Given the description of an element on the screen output the (x, y) to click on. 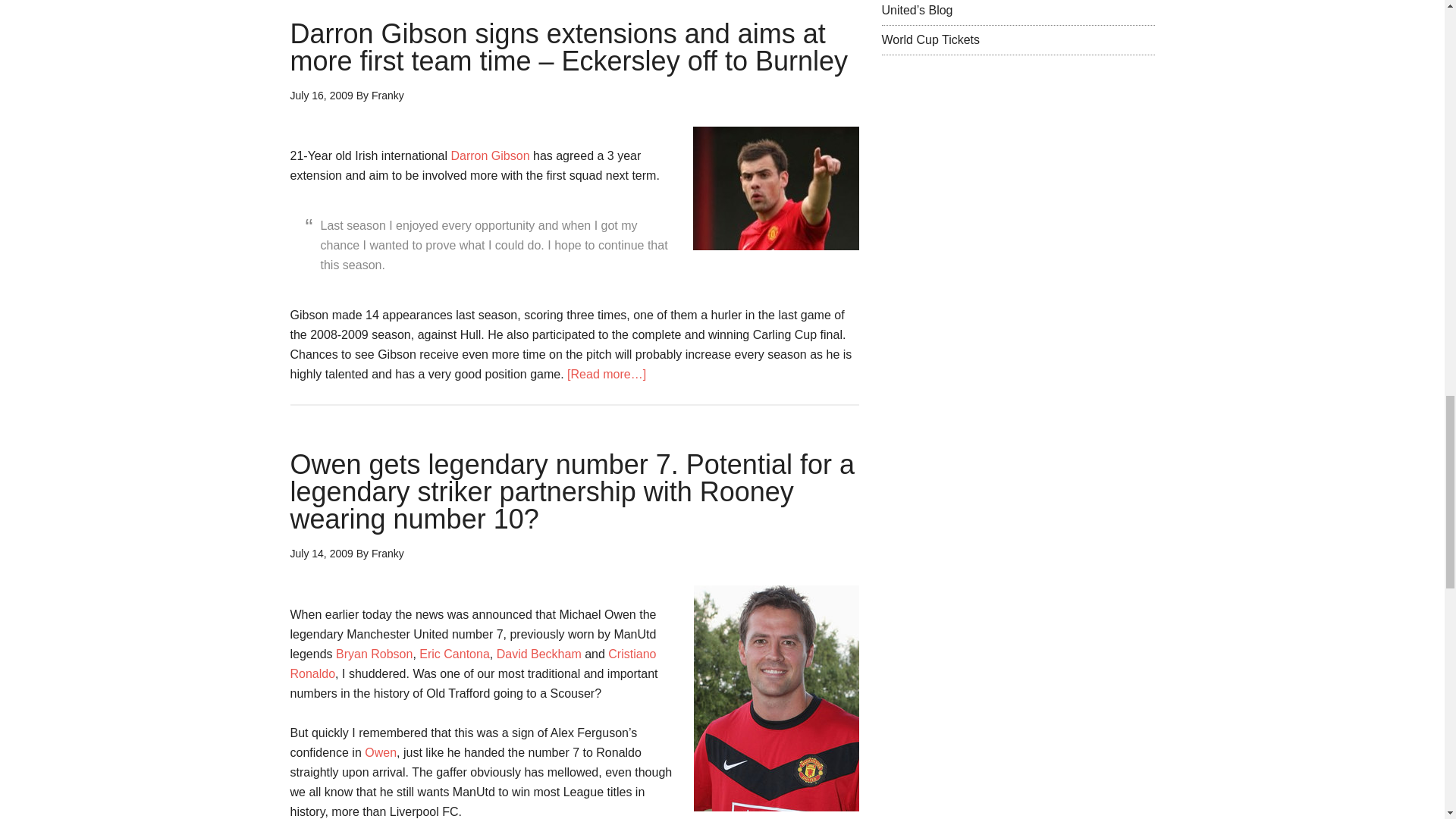
Eric Cantona (454, 653)
Franky (387, 95)
Darron Gibson (489, 155)
Franky (387, 553)
gibson (776, 188)
Owen (380, 752)
Cristiano Ronaldo (472, 663)
David Beckham (538, 653)
Bryan Robson (374, 653)
